Given the description of an element on the screen output the (x, y) to click on. 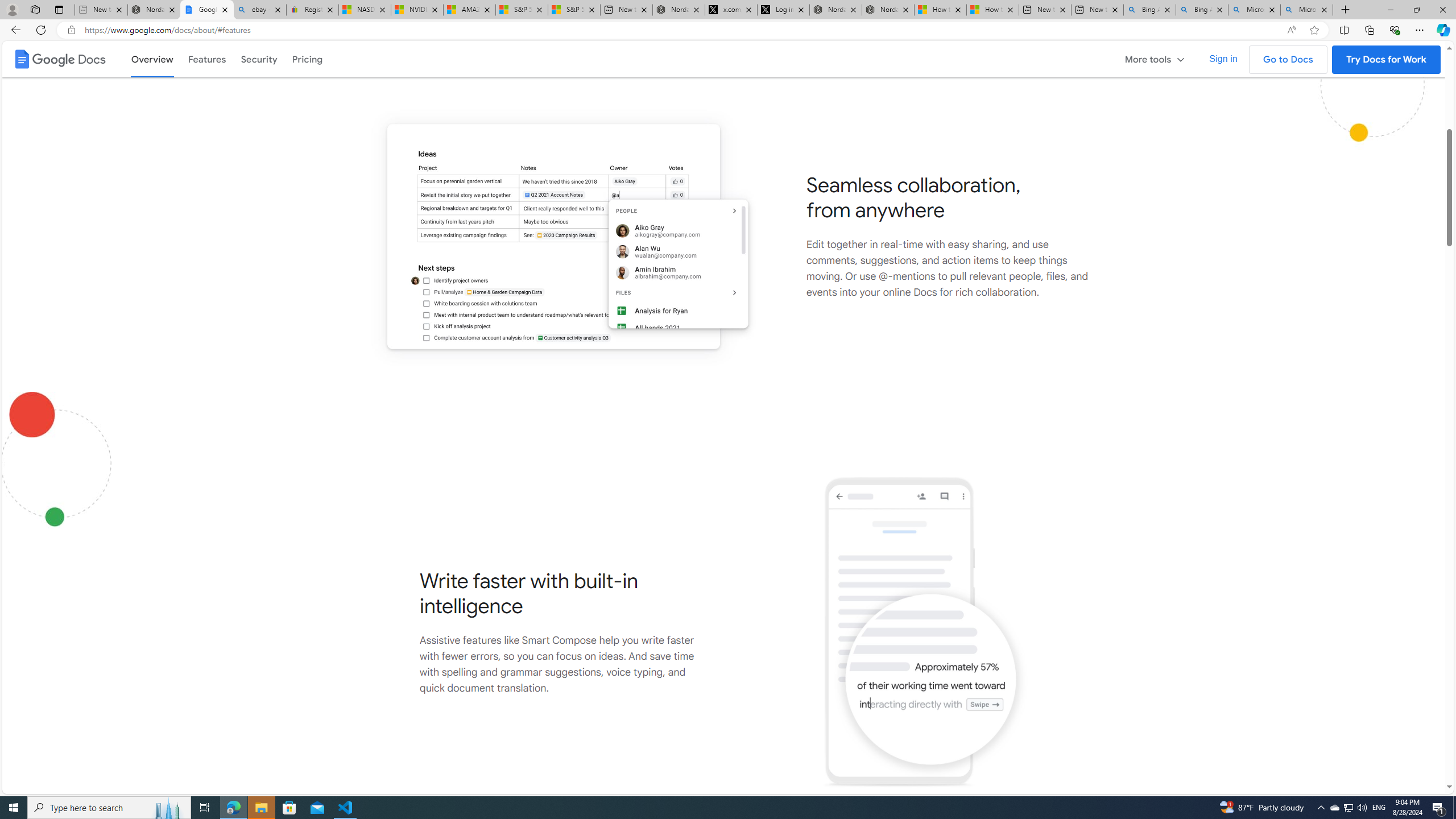
Google Docs: Online Document Editor | Google Workspace (207, 9)
Microsoft Bing Timeline - Search (1306, 9)
